Given the description of an element on the screen output the (x, y) to click on. 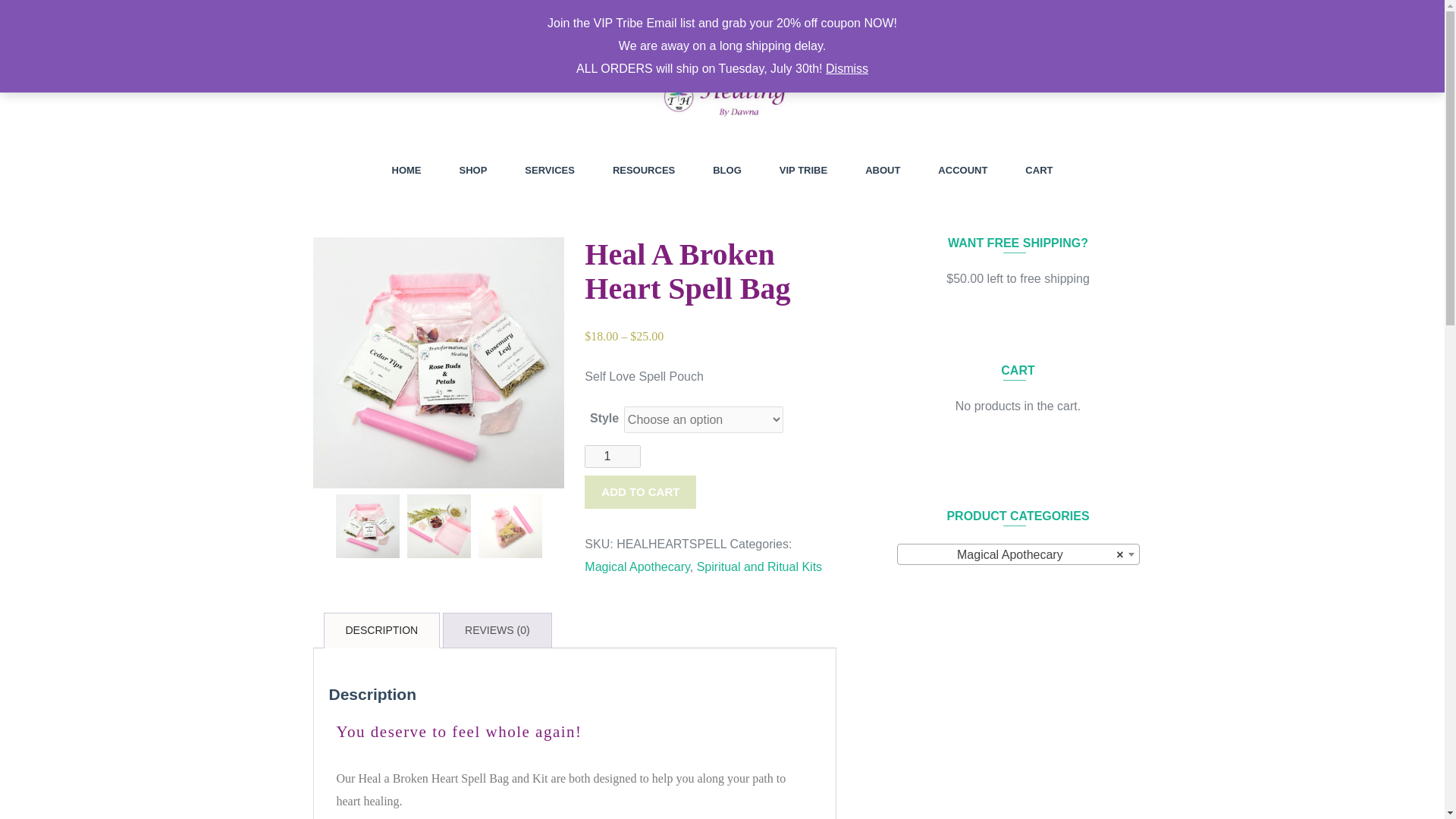
RESOURCES (644, 169)
Transformational Healing by Dawna (385, 144)
VIP TRIBE (802, 169)
DESCRIPTION (381, 630)
heal-a-broken-heart-spell-bag-kit (366, 525)
SERVICES (549, 169)
1 (612, 456)
heal-a-broken-heart-spell-bag (509, 525)
CART (1038, 169)
BLOG (727, 169)
facebook (305, 14)
Magical Apothecary (1018, 554)
youtube (355, 14)
HOME (406, 169)
heal-a-broken-heart-spell-bag-kit (438, 362)
